Given the description of an element on the screen output the (x, y) to click on. 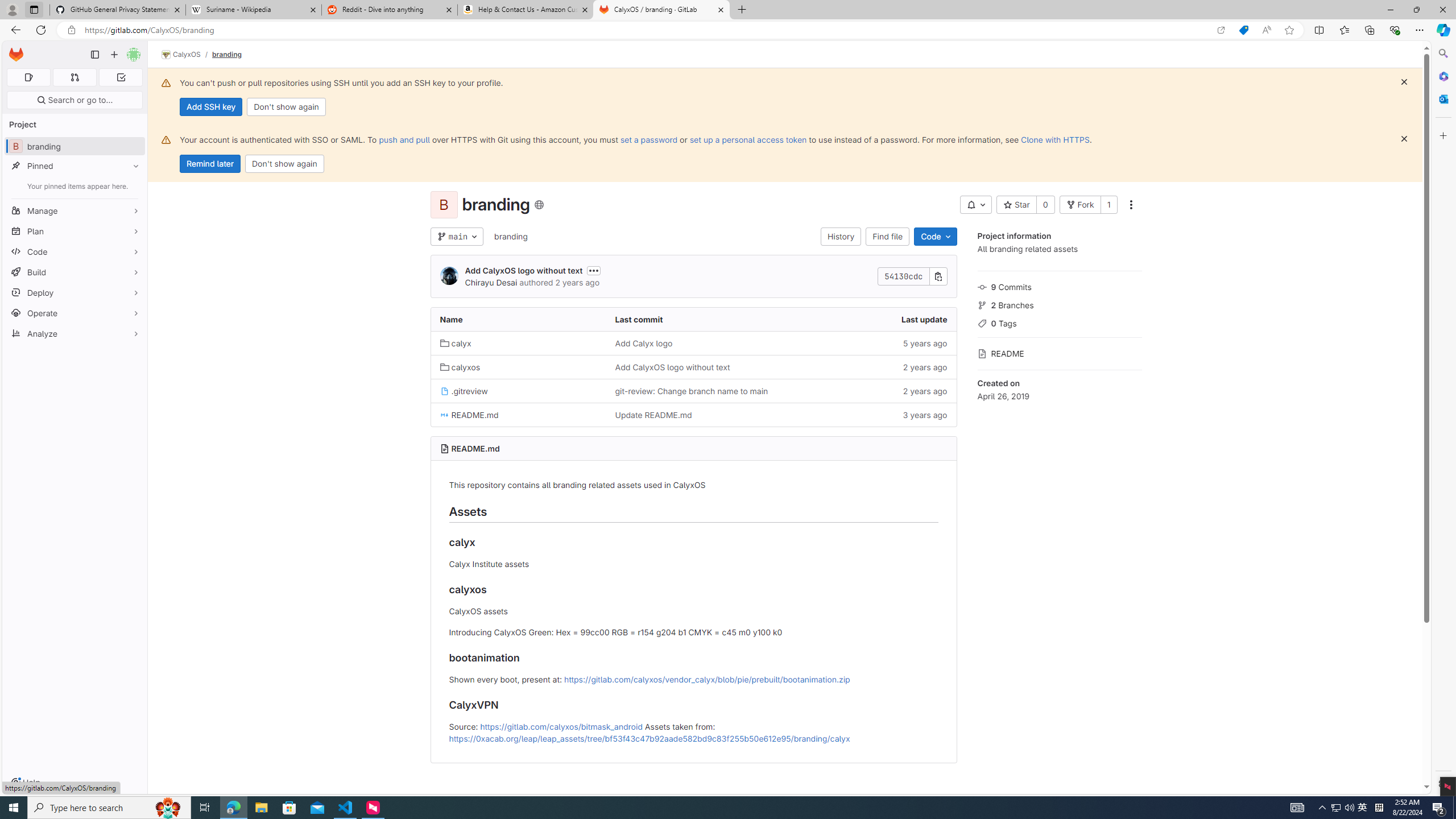
 Star (1015, 204)
More actions (1130, 204)
calyxos (517, 366)
Operate (74, 312)
calyx (455, 342)
9 Commits (1058, 286)
README.md (475, 447)
Merge requests 0 (74, 76)
Clone with HTTPS (1054, 139)
git-review: Change branch name to main (691, 390)
Analyze (74, 333)
1 (1108, 204)
